Given the description of an element on the screen output the (x, y) to click on. 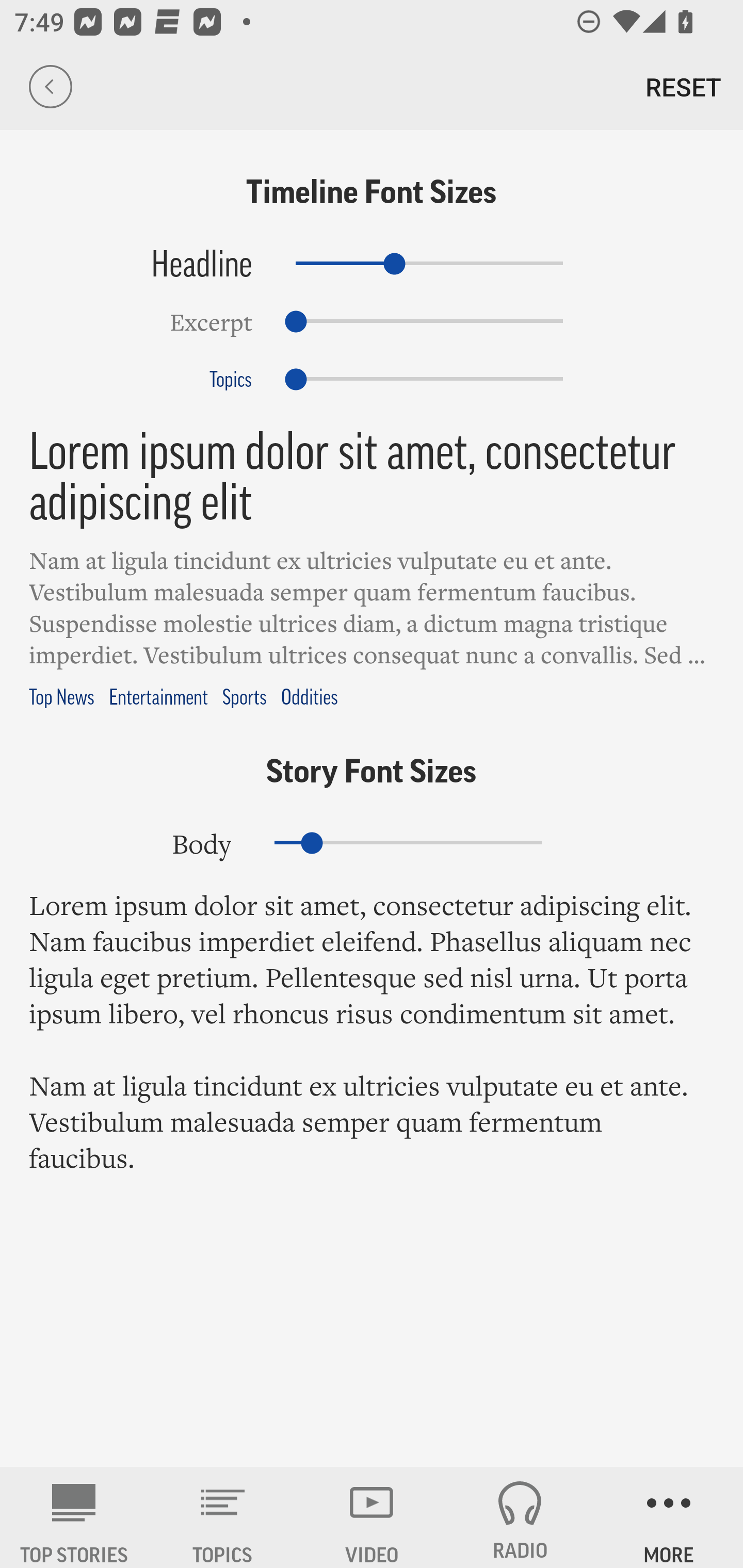
RESET (683, 86)
AP News TOP STORIES (74, 1517)
TOPICS (222, 1517)
VIDEO (371, 1517)
RADIO (519, 1517)
MORE (668, 1517)
